Given the description of an element on the screen output the (x, y) to click on. 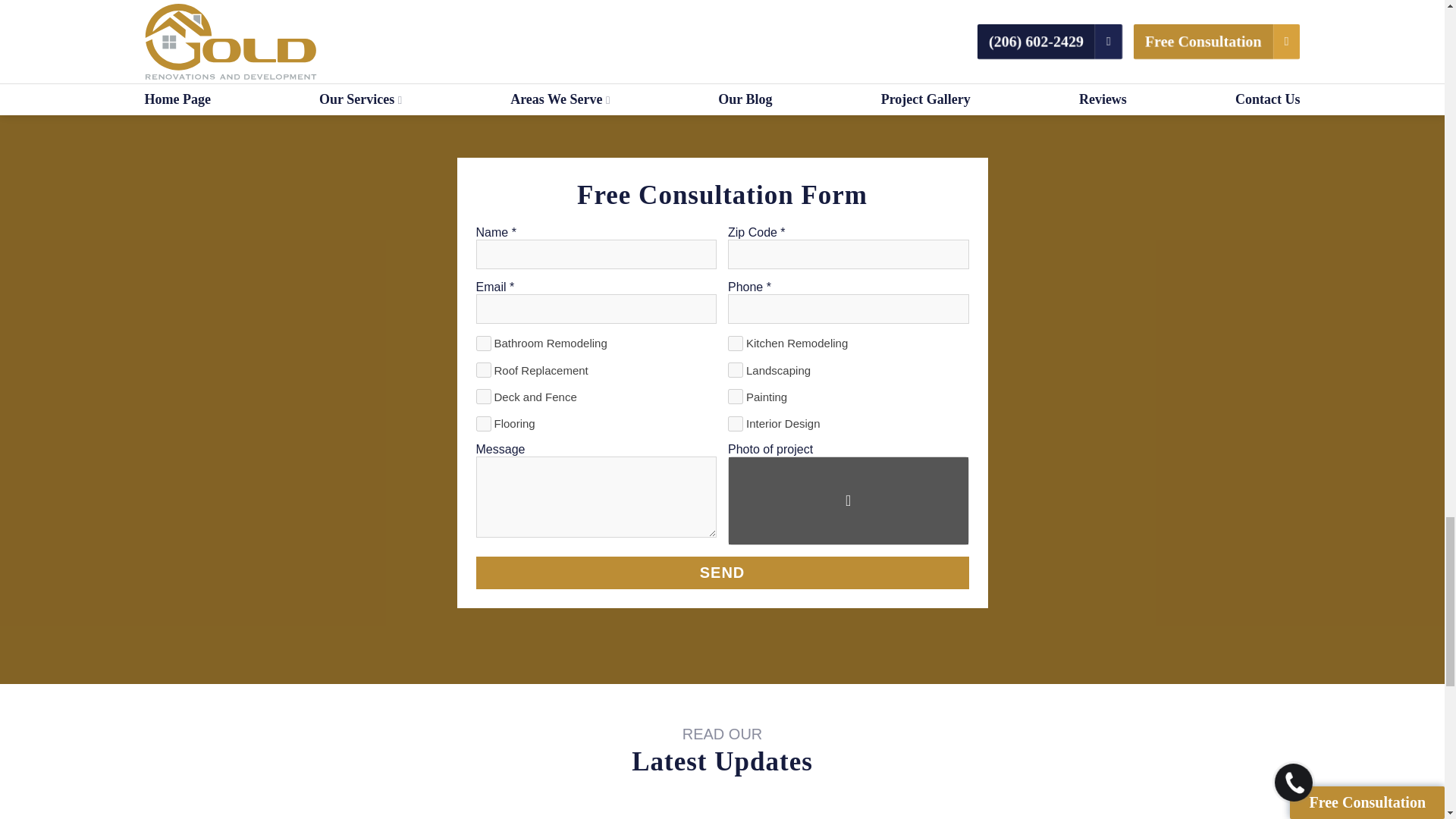
Flooring (484, 423)
Painting (735, 396)
Bathroom Remodeling (484, 343)
Deck and Fence (484, 396)
Interior Design (735, 423)
Landscaping (735, 369)
Kitchen Remodeling (735, 343)
Roof Replacement (484, 369)
